Given the description of an element on the screen output the (x, y) to click on. 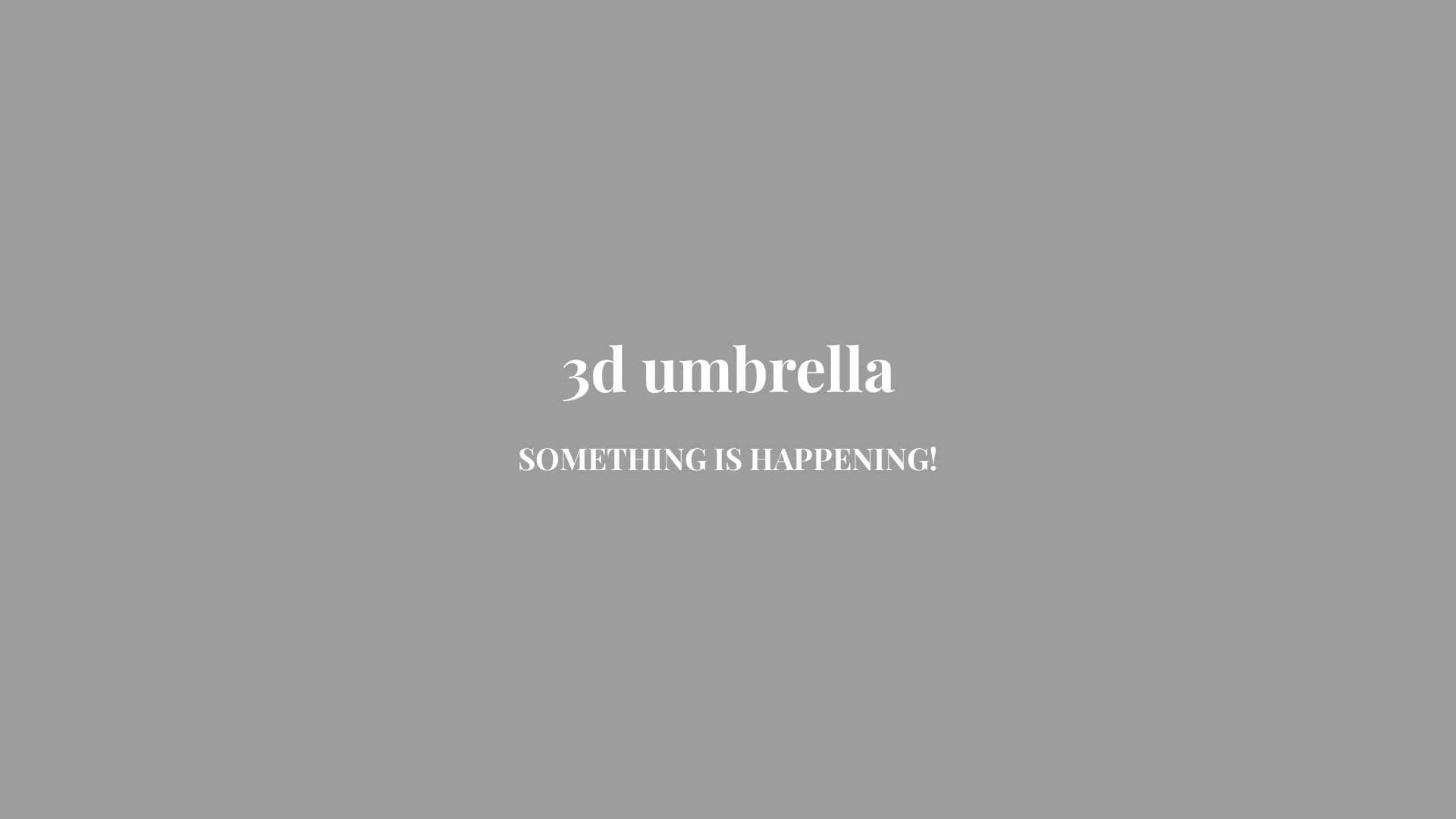
3d umbrella Element type: text (727, 380)
